Given the description of an element on the screen output the (x, y) to click on. 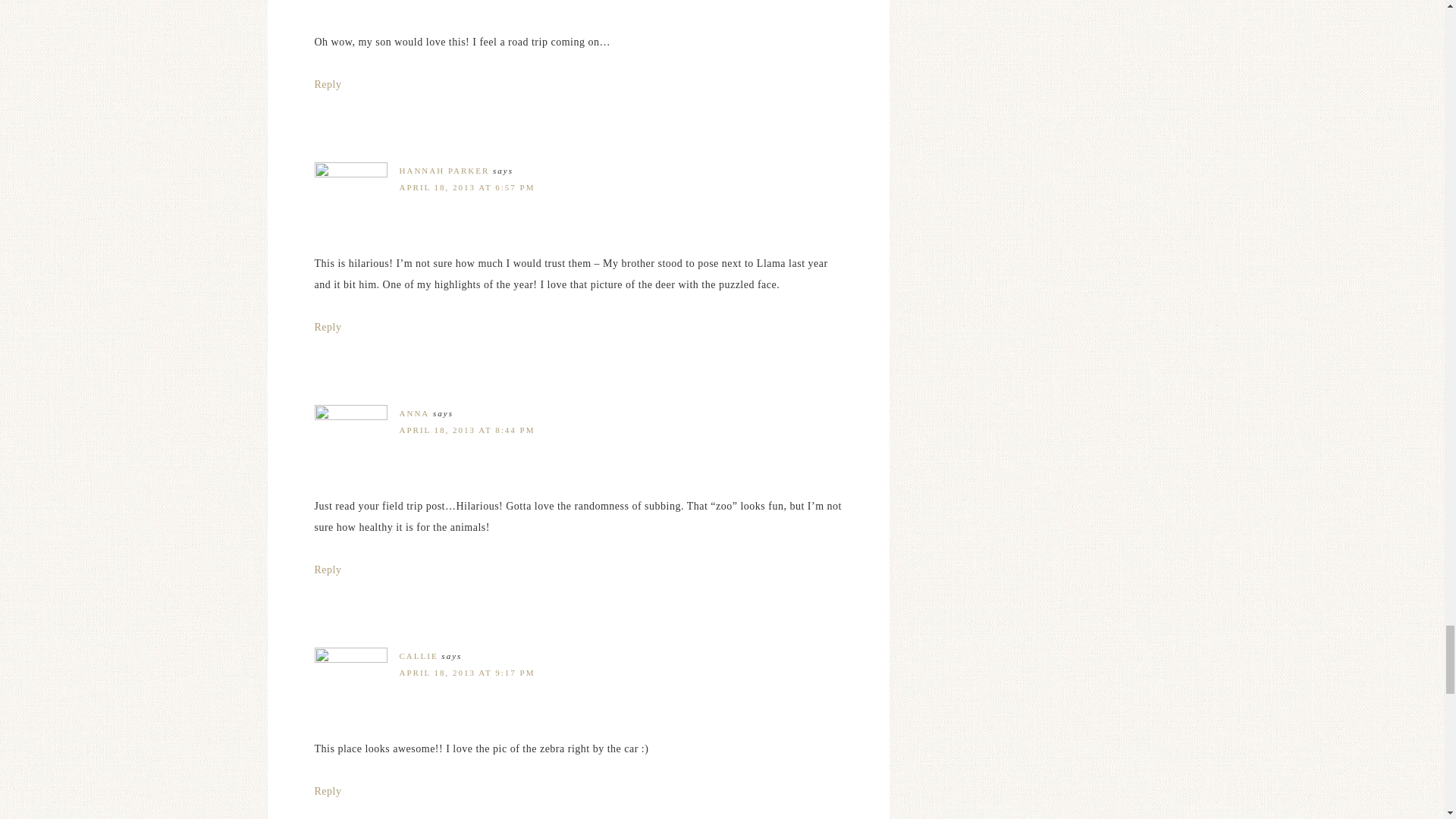
Reply (327, 84)
APRIL 18, 2013 AT 6:57 PM (466, 186)
CALLIE (418, 655)
ANNA (413, 412)
HANNAH PARKER (443, 170)
Reply (327, 326)
Reply (327, 569)
APRIL 18, 2013 AT 8:44 PM (466, 429)
